Given the description of an element on the screen output the (x, y) to click on. 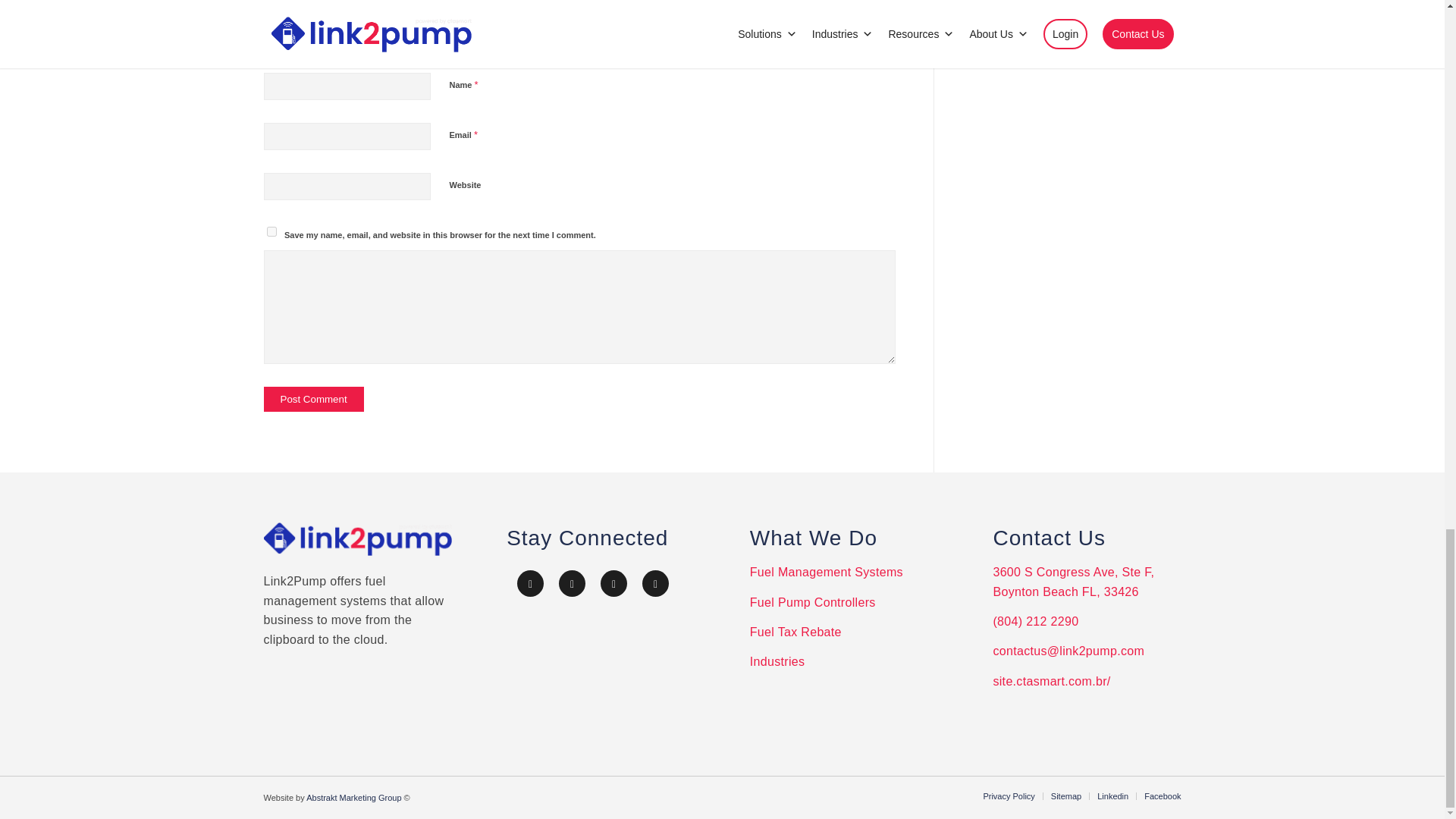
yes (271, 231)
Post Comment (313, 398)
